Given the description of an element on the screen output the (x, y) to click on. 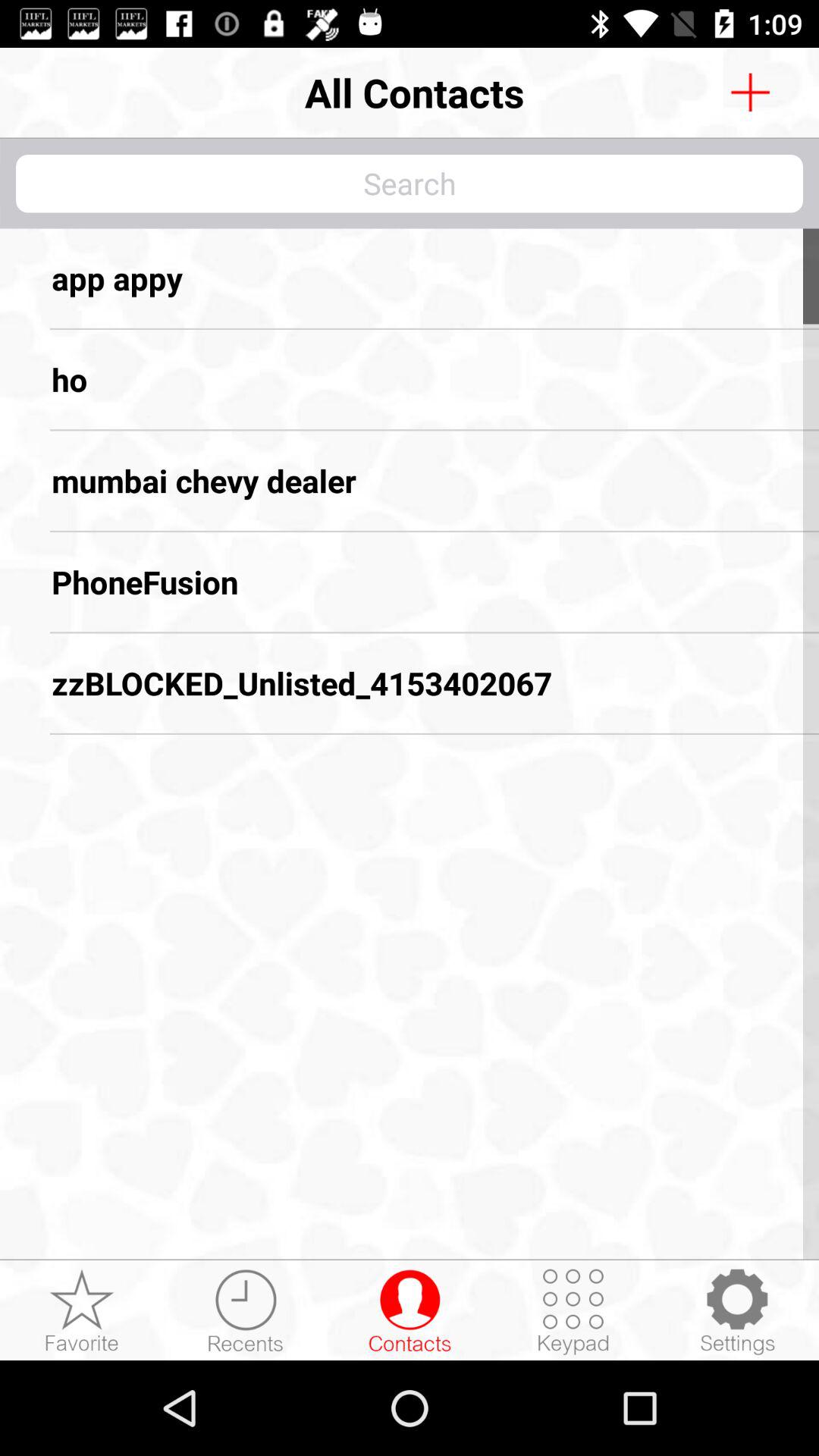
go to contact (409, 1311)
